Given the description of an element on the screen output the (x, y) to click on. 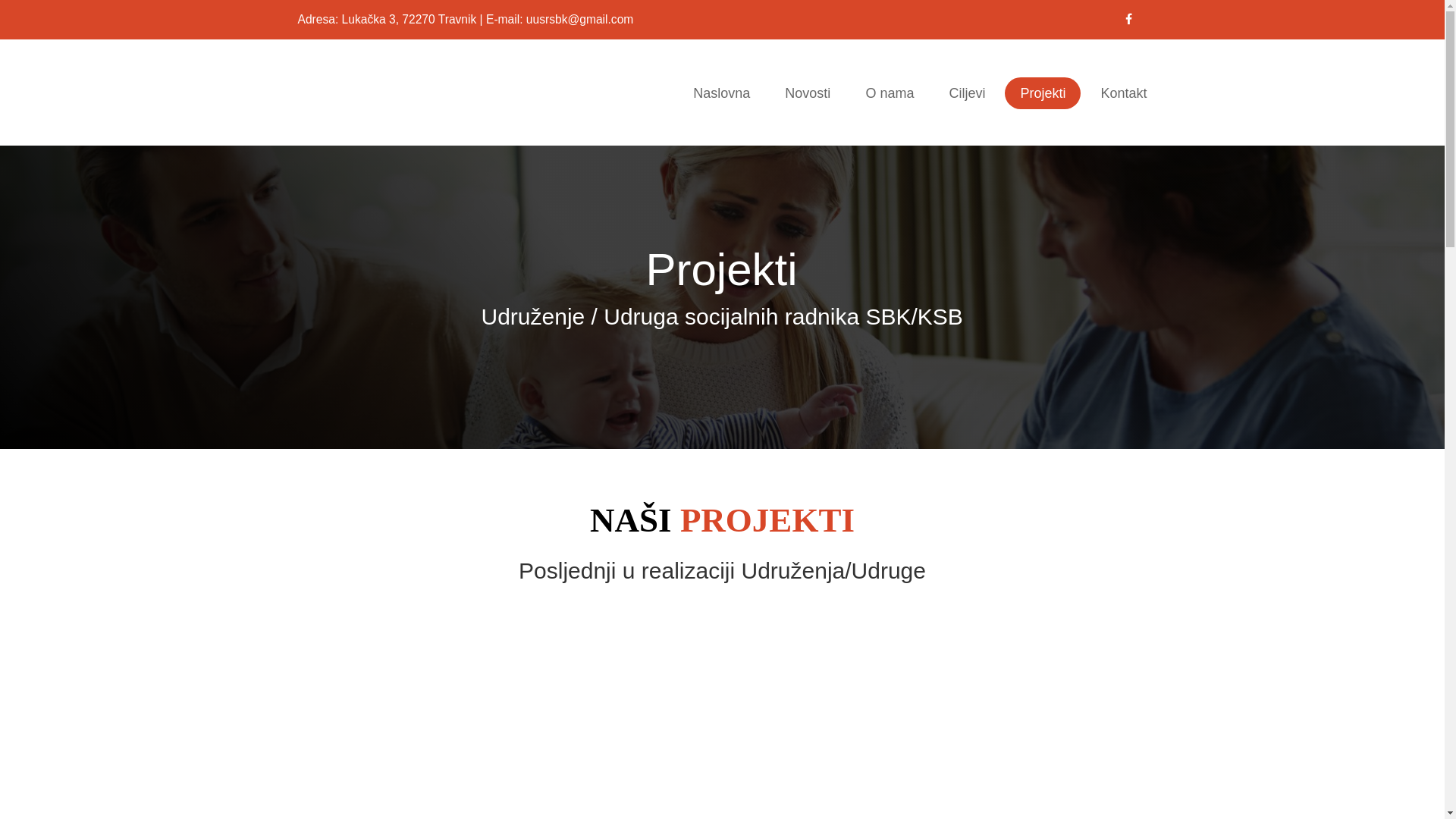
Ciljevi Element type: text (966, 93)
Kontakt Element type: text (1123, 93)
Naslovna Element type: text (721, 93)
O nama Element type: text (889, 93)
Novosti Element type: text (807, 93)
Projekti Element type: text (1042, 93)
